Given the description of an element on the screen output the (x, y) to click on. 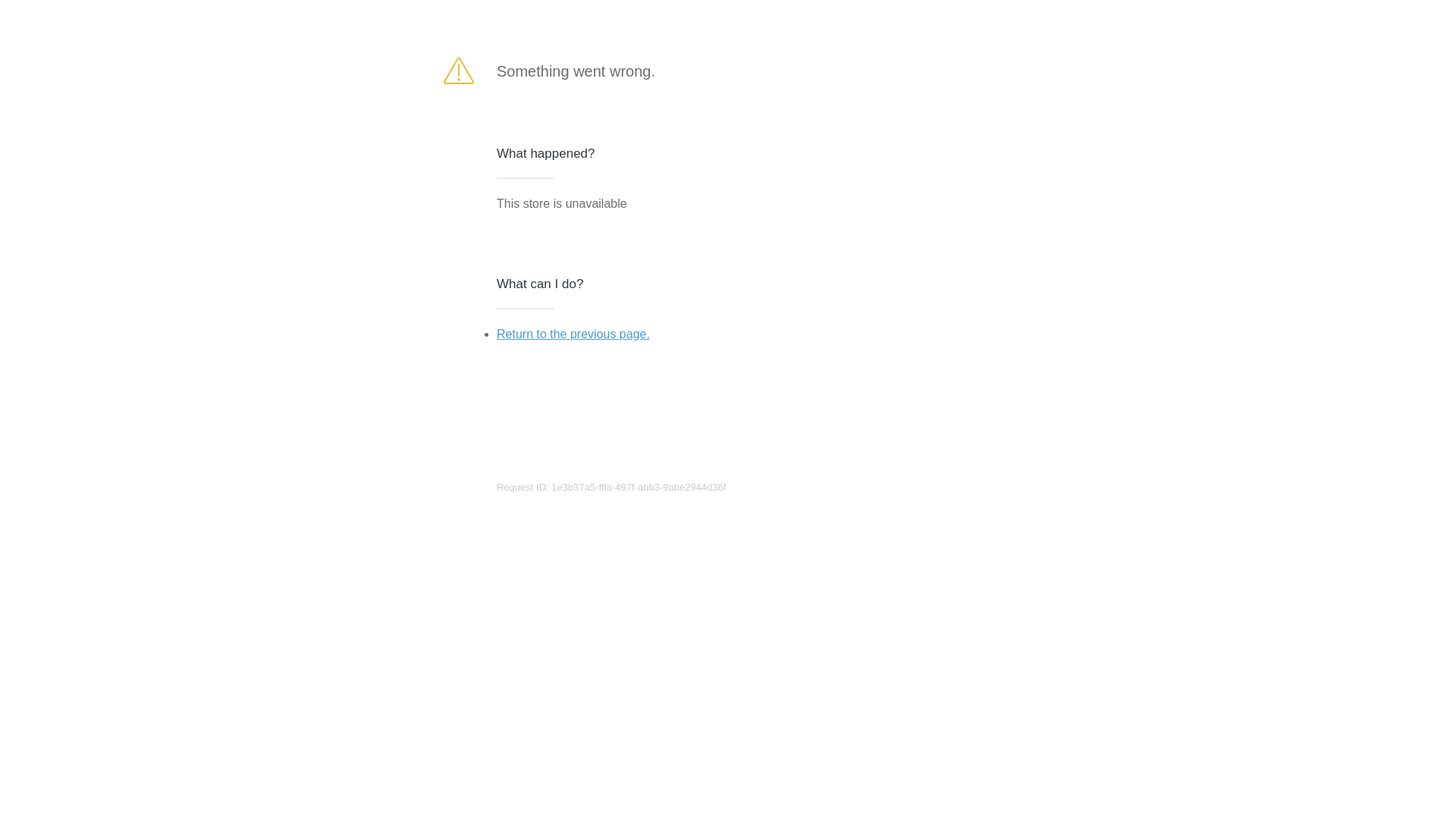
Return to the previous page. Element type: text (572, 333)
